Given the description of an element on the screen output the (x, y) to click on. 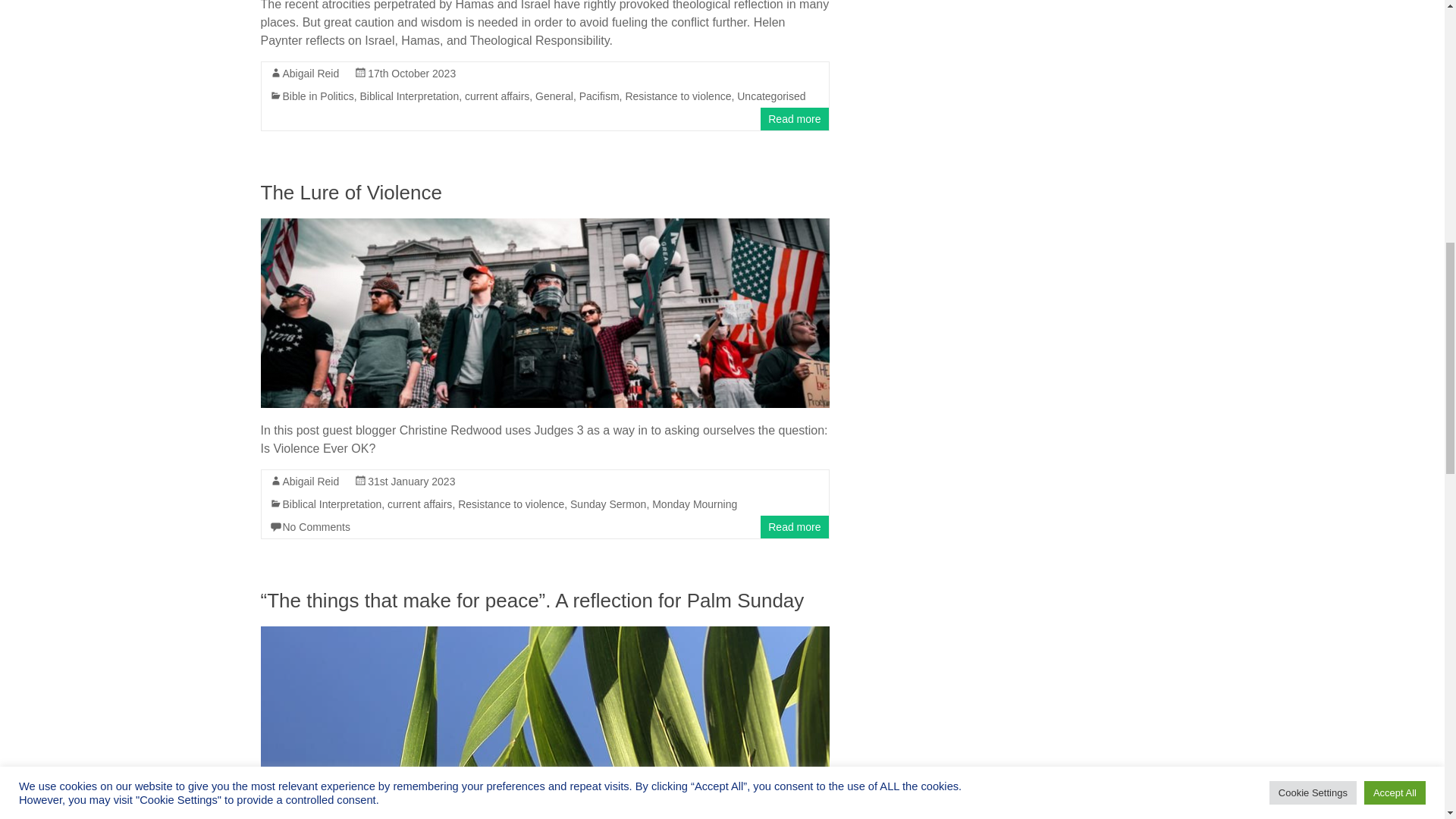
9:32 am (411, 481)
10:48 am (411, 73)
